Given the description of an element on the screen output the (x, y) to click on. 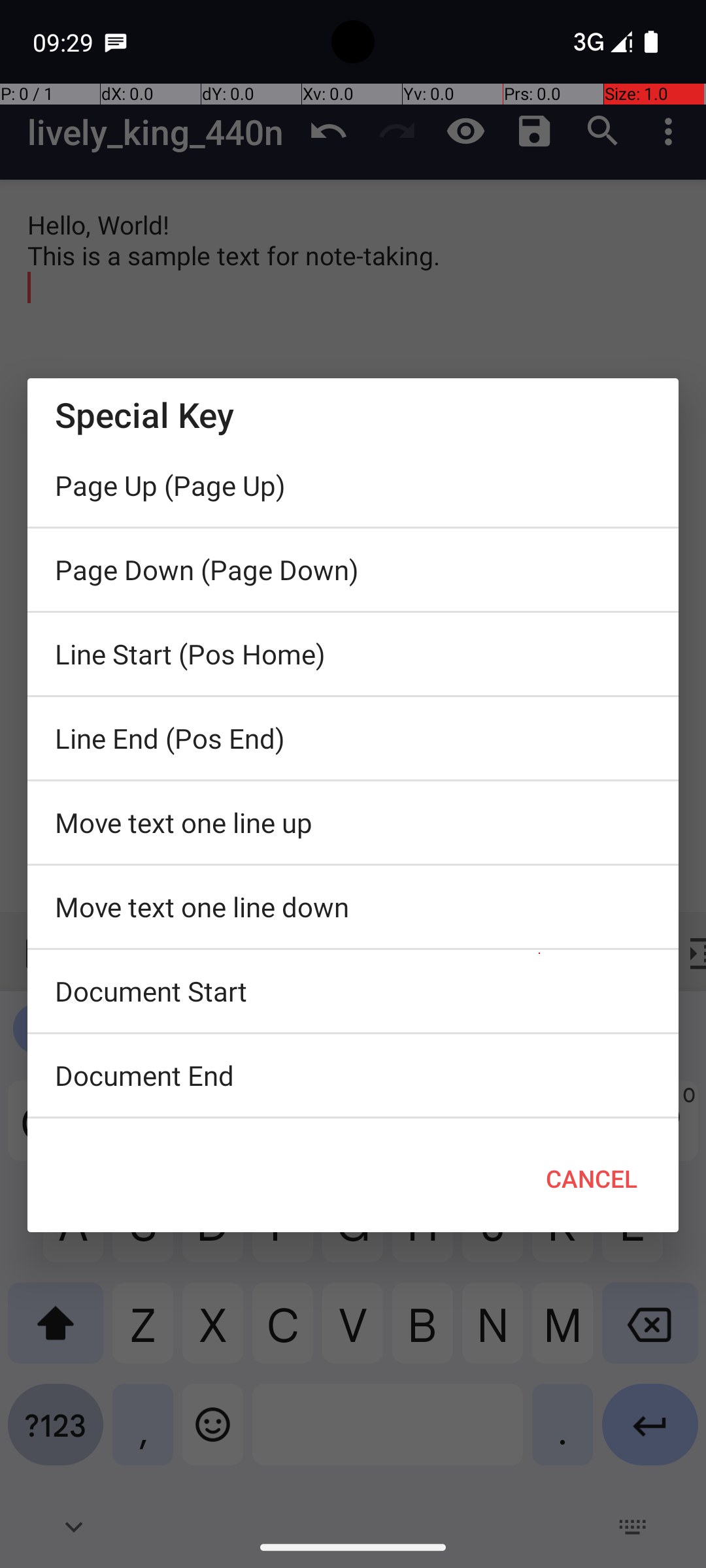
Page Up (Page Up) Element type: android.widget.TextView (352, 485)
Page Down (Page Down) Element type: android.widget.TextView (352, 569)
Line Start (Pos Home) Element type: android.widget.TextView (352, 653)
Line End (Pos End) Element type: android.widget.TextView (352, 738)
Move text one line up Element type: android.widget.TextView (352, 822)
Move text one line down Element type: android.widget.TextView (352, 906)
Document Start Element type: android.widget.TextView (352, 990)
Document End Element type: android.widget.TextView (352, 1075)
Select all (Ctrl+A) Element type: android.widget.TextView (352, 1121)
09:29 Element type: android.widget.TextView (64, 41)
